Given the description of an element on the screen output the (x, y) to click on. 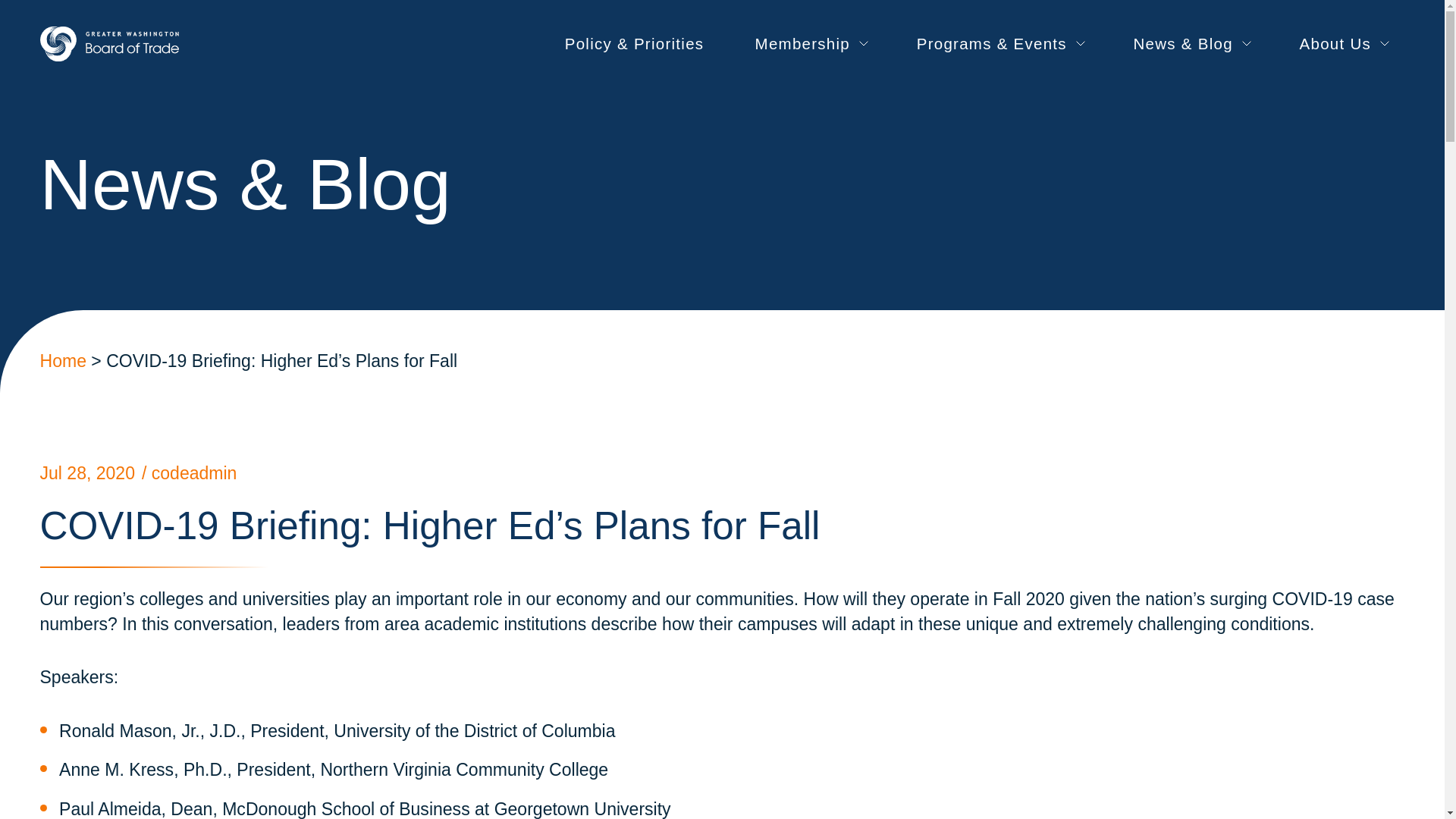
About Us (1343, 43)
Home (62, 360)
Membership (809, 43)
